Given the description of an element on the screen output the (x, y) to click on. 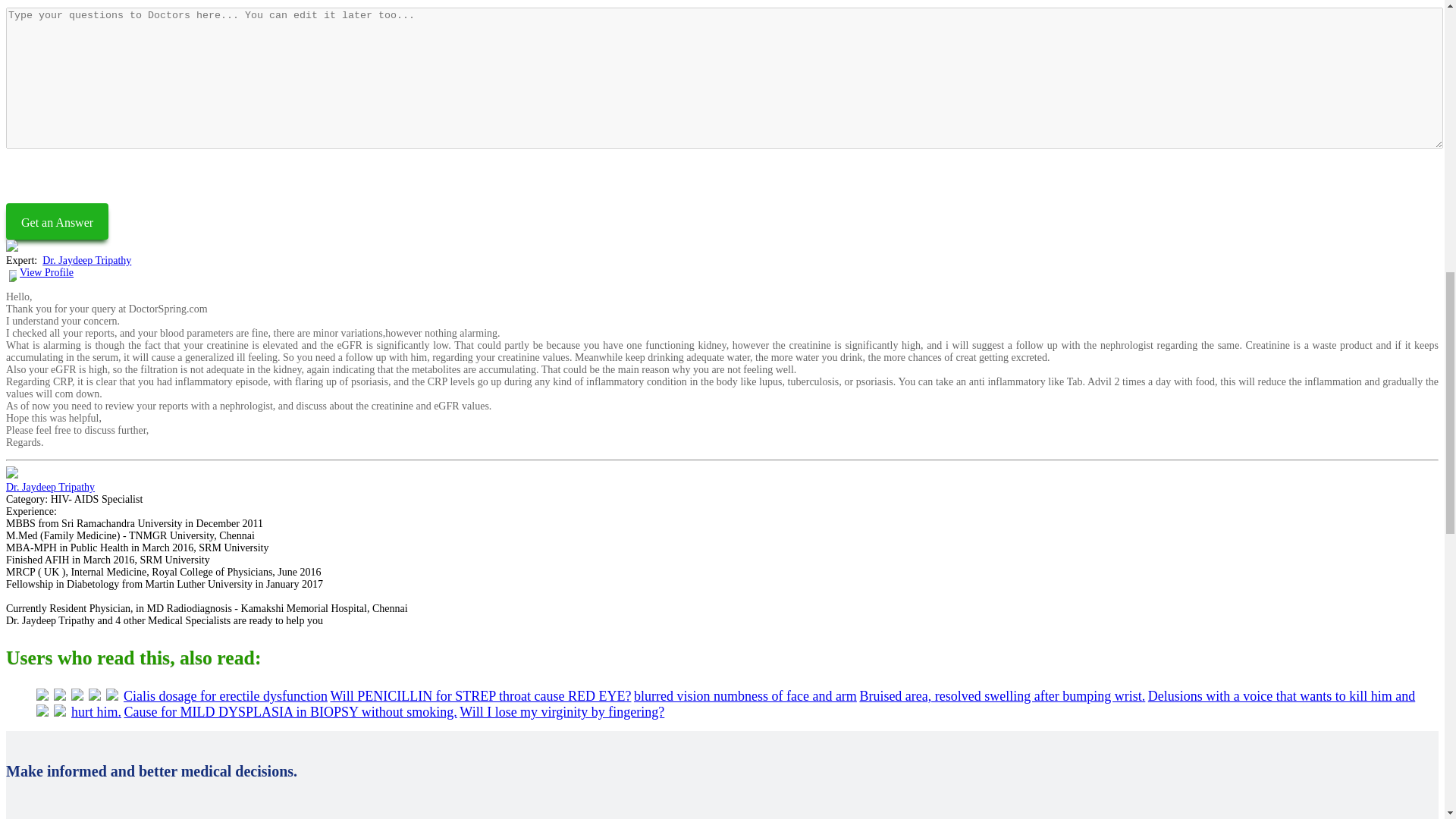
View Profile (47, 272)
blurred vision numbness of face and arm (745, 695)
Get an Answer (56, 221)
Cialis dosage for erectile dysfunction (225, 695)
Get an Answer (56, 221)
Will PENICILLIN for STREP throat cause RED EYE? (480, 695)
Delusions with a voice that wants to kill him and hurt him. (743, 703)
Will I lose my virginity by fingering? (561, 711)
Bruised area, resolved swelling after bumping wrist. (1001, 695)
Dr. Jaydeep Tripathy (86, 260)
